Given the description of an element on the screen output the (x, y) to click on. 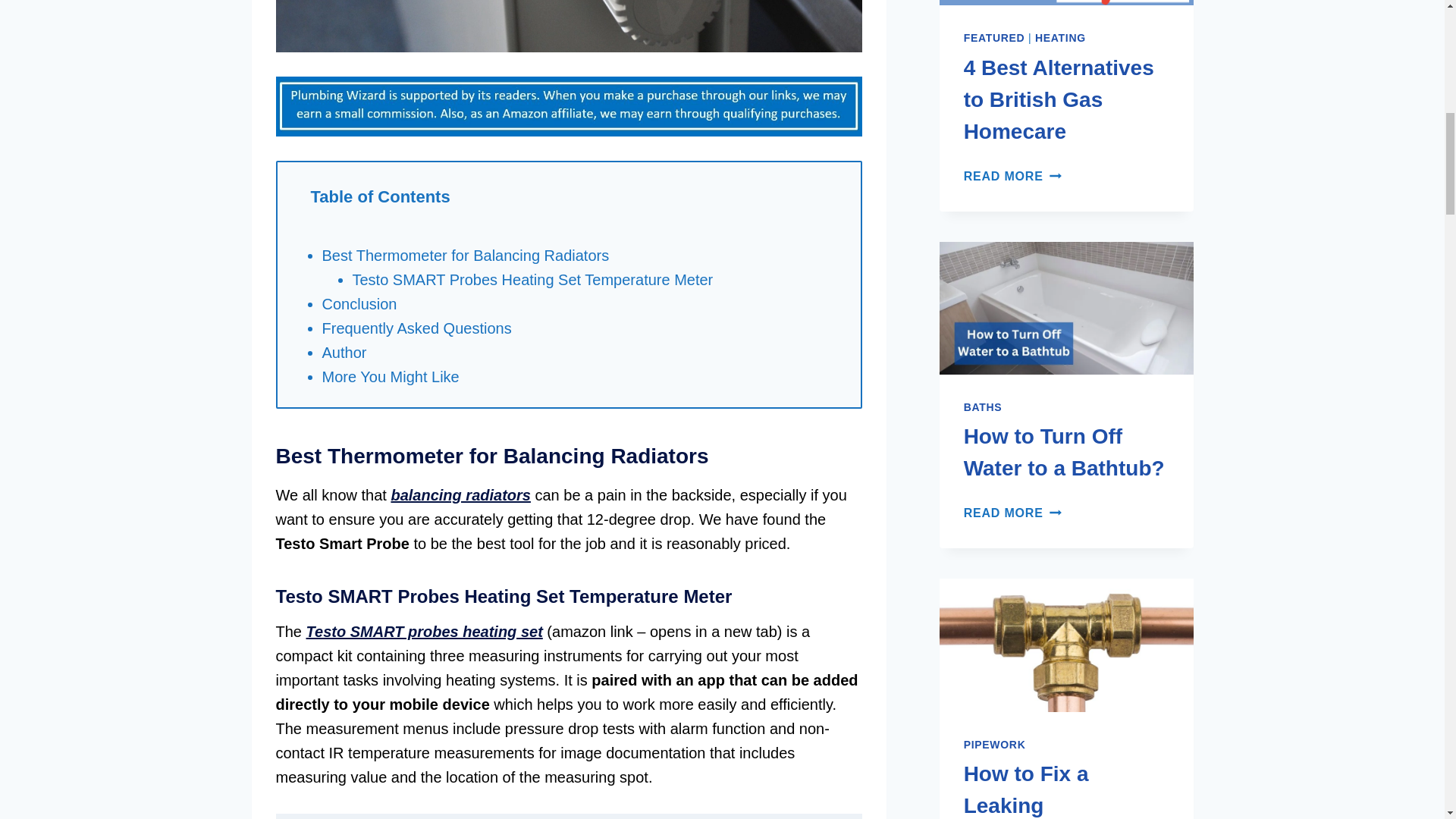
Frequently Asked Questions (416, 328)
Author (343, 352)
Conclusion (358, 303)
Testo SMART Probes Heating Set Temperature Meter (532, 279)
More You Might Like (389, 376)
Testo SMART probes heating set (424, 631)
Best Thermometer for Balancing Radiators (464, 255)
balancing radiators (460, 494)
